Given the description of an element on the screen output the (x, y) to click on. 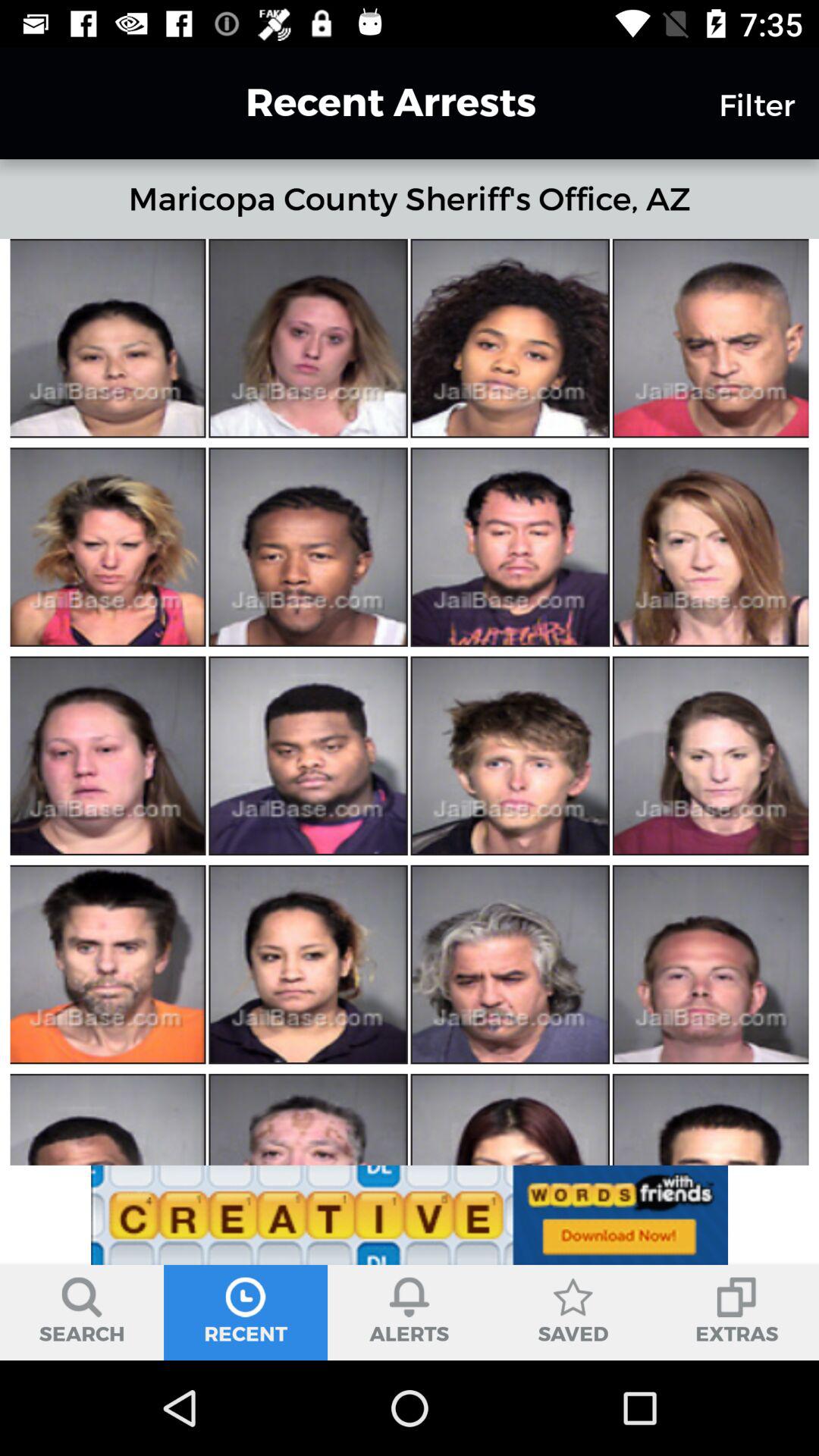
turn off item next to filter icon (363, 102)
